Given the description of an element on the screen output the (x, y) to click on. 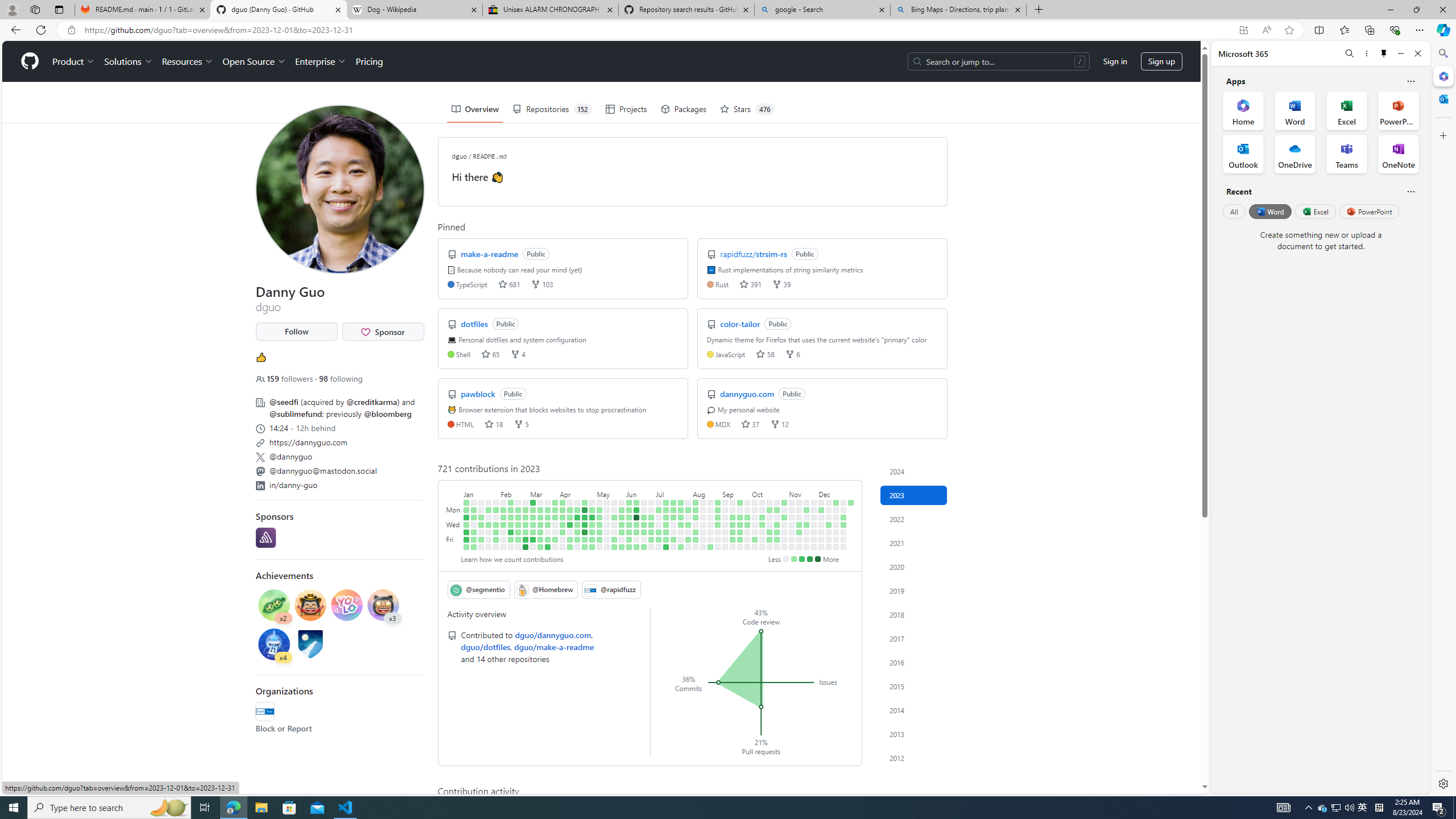
8 contributions on April 17th. (577, 509)
No contributions on September 24th. (747, 502)
2 contributions on August 27th. (717, 502)
Contribution activity in 2021 (913, 542)
June (640, 492)
@dannyguo@mastodon.social (338, 469)
@dannyguo (291, 456)
2 contributions on December 26th. (843, 517)
1 contribution on July 25th. (681, 517)
No contributions on August 16th. (703, 524)
2 contributions on September 22nd. (740, 539)
1 contribution on August 29th. (717, 517)
No contributions on August 25th. (710, 539)
No contributions on November 12th. (799, 502)
